Given the description of an element on the screen output the (x, y) to click on. 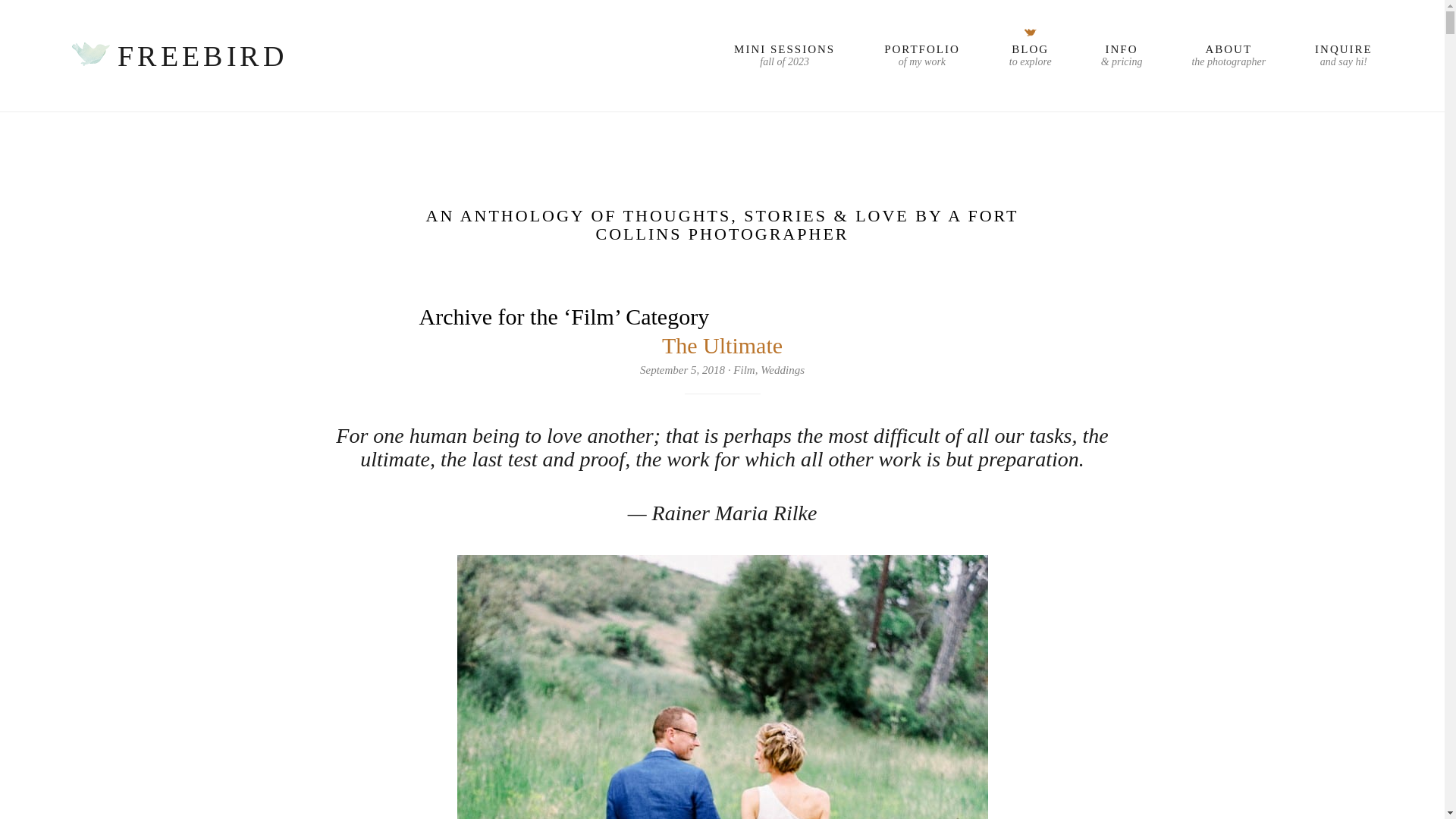
Film (921, 54)
FREEBIRD (1030, 54)
Weddings (783, 54)
The Ultimate (743, 369)
